Given the description of an element on the screen output the (x, y) to click on. 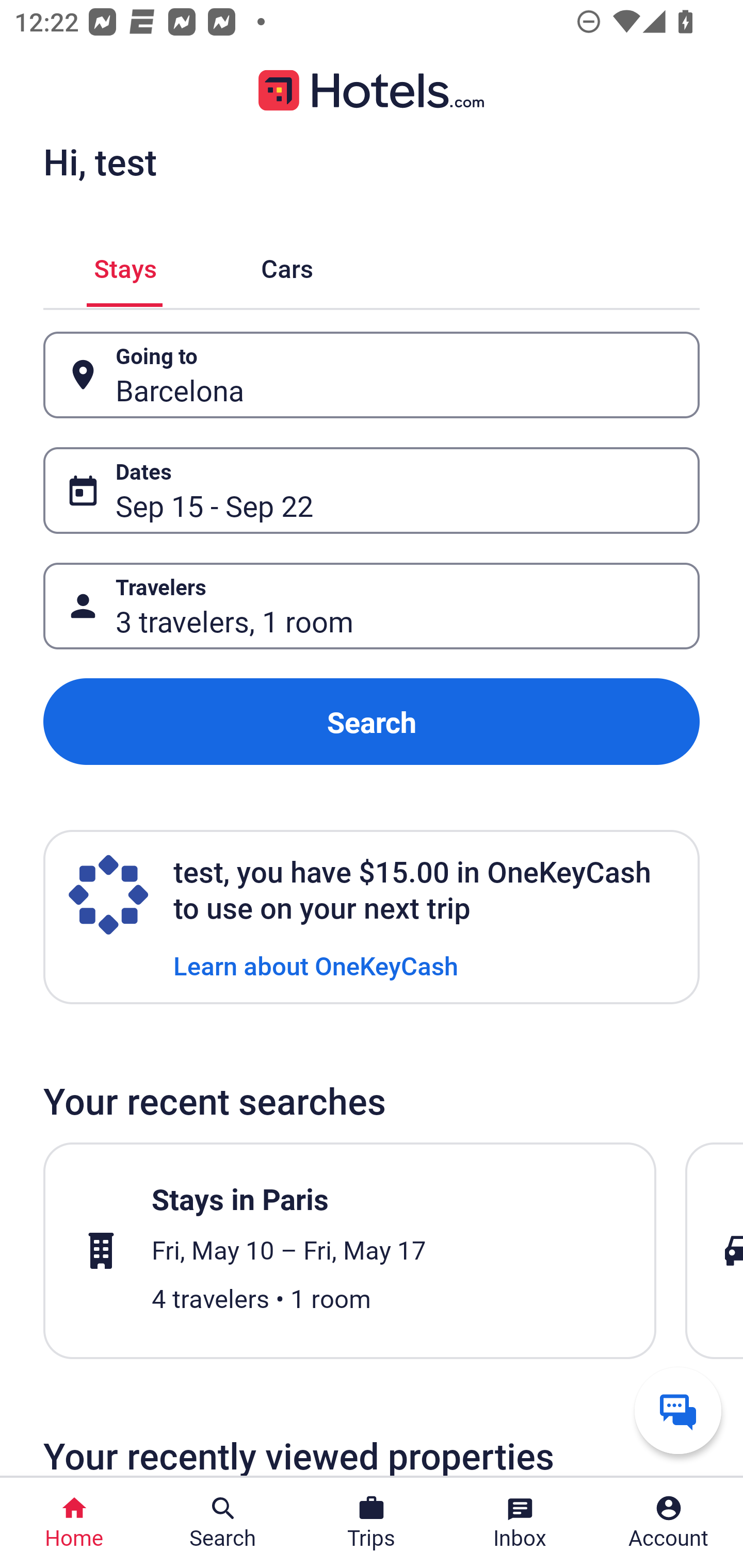
Hi, test (99, 161)
Cars (286, 265)
Going to Button Barcelona (371, 375)
Dates Button Sep 15 - Sep 22 (371, 489)
Travelers Button 3 travelers, 1 room (371, 605)
Search (371, 721)
Learn about OneKeyCash Learn about OneKeyCash Link (315, 964)
Get help from a virtual agent (677, 1410)
Search Search Button (222, 1522)
Trips Trips Button (371, 1522)
Inbox Inbox Button (519, 1522)
Account Profile. Button (668, 1522)
